Given the description of an element on the screen output the (x, y) to click on. 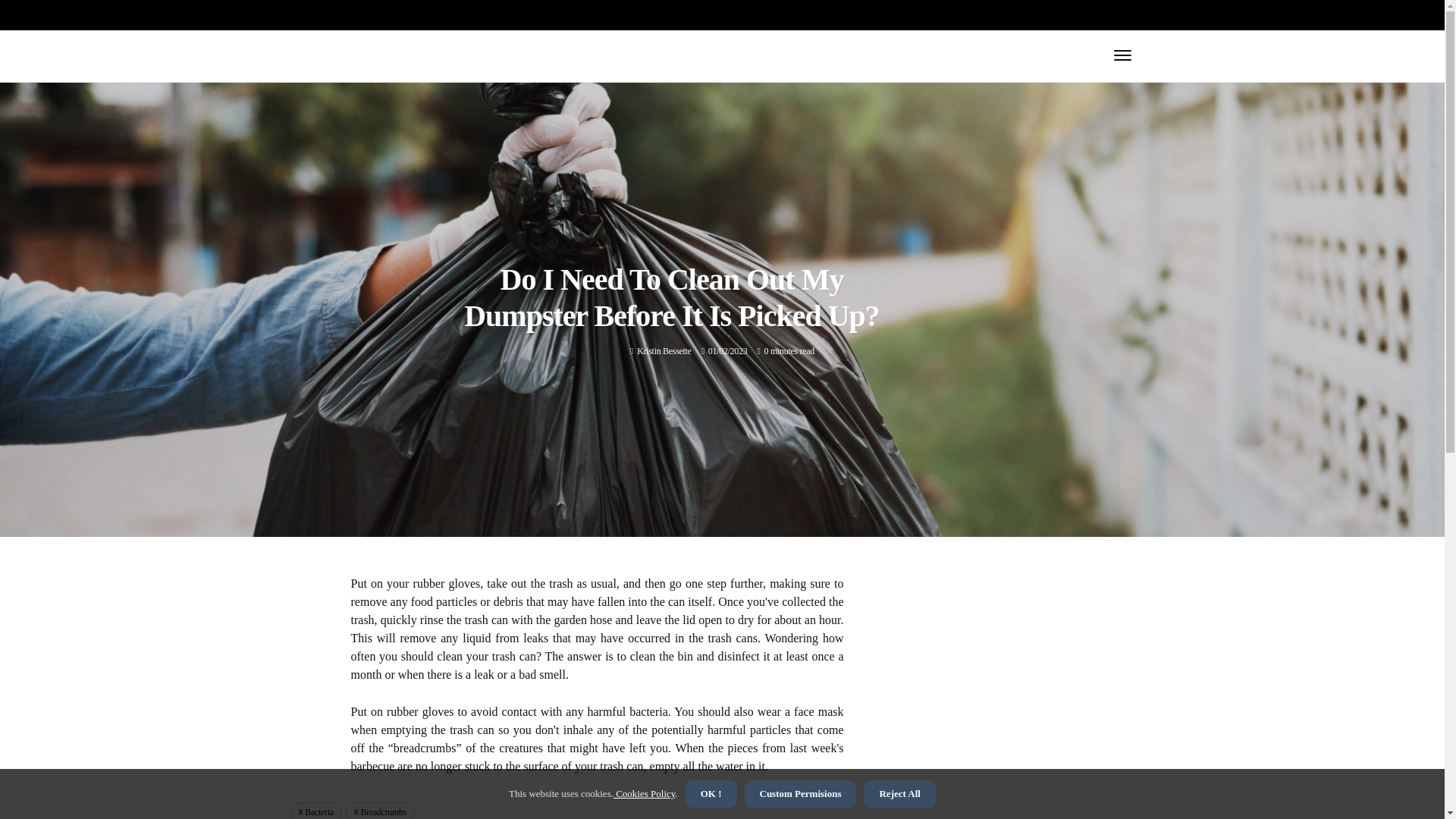
Breadcrumbs (380, 810)
Kristin Bessette (664, 350)
Posts by Kristin Bessette (664, 350)
Bacteria (314, 810)
